Given the description of an element on the screen output the (x, y) to click on. 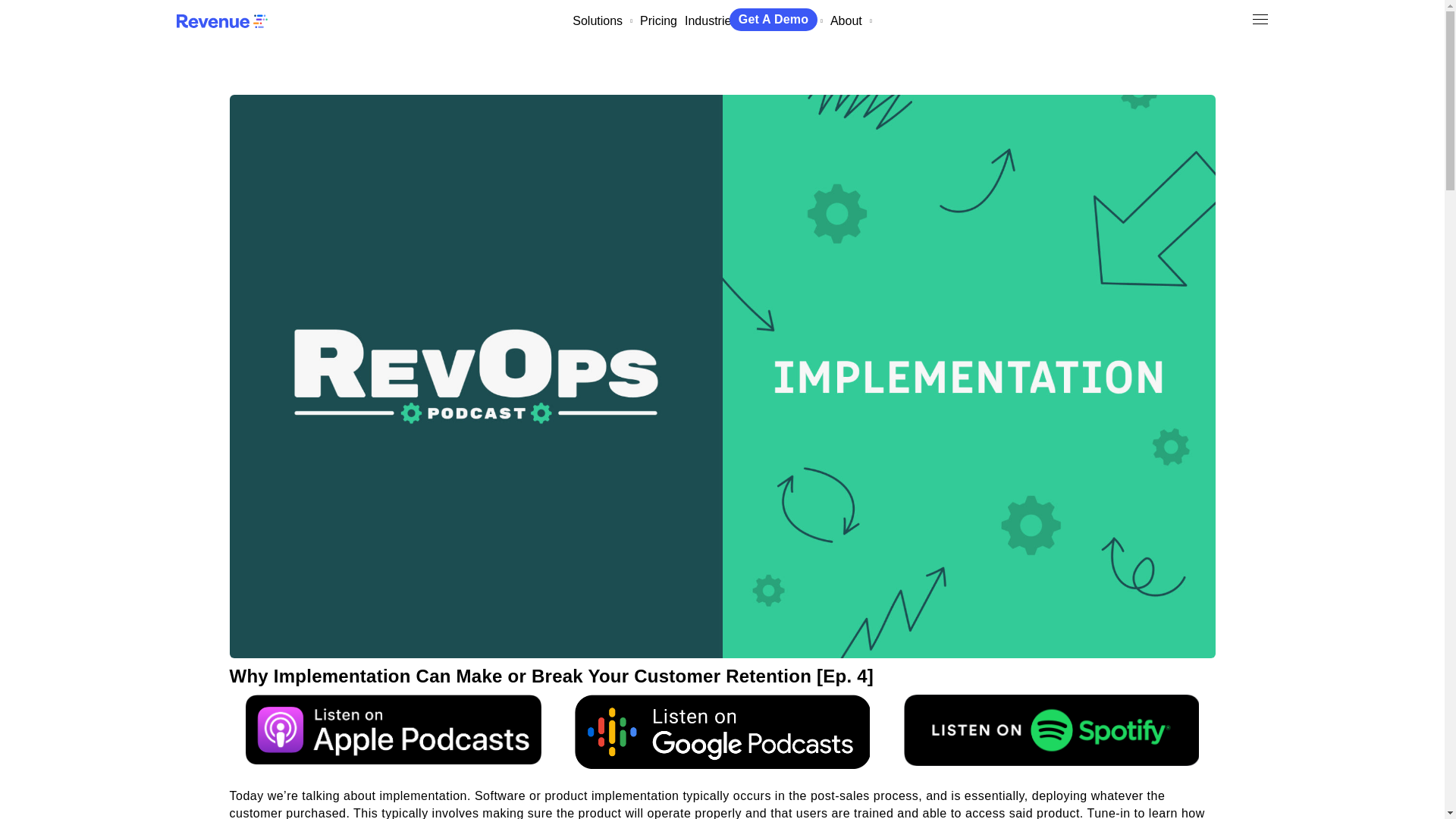
Pricing (658, 19)
Get A Demo (772, 19)
